Given the description of an element on the screen output the (x, y) to click on. 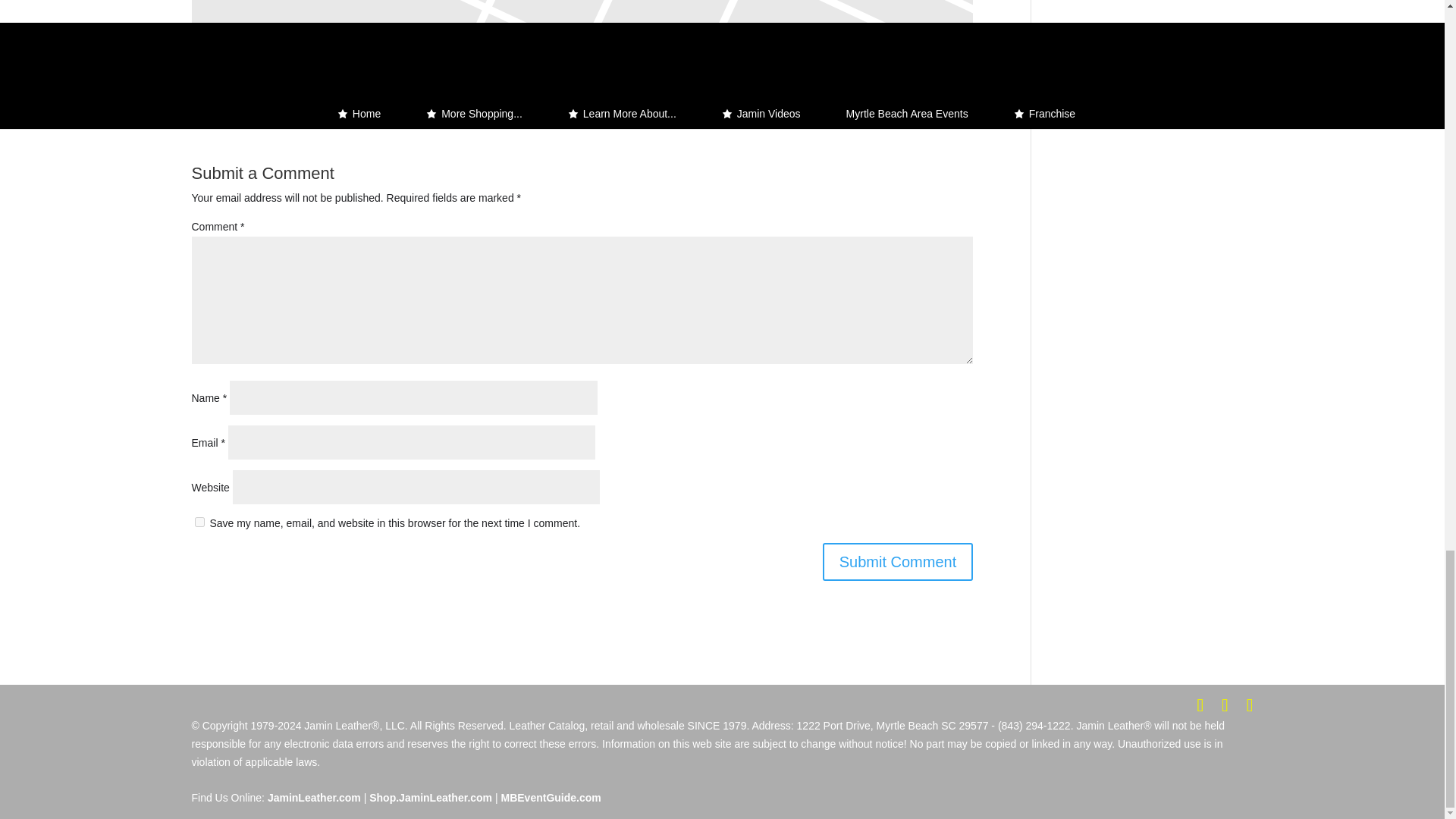
Click here to get directions (937, 86)
yes (198, 521)
Submit Comment (898, 561)
